Given the description of an element on the screen output the (x, y) to click on. 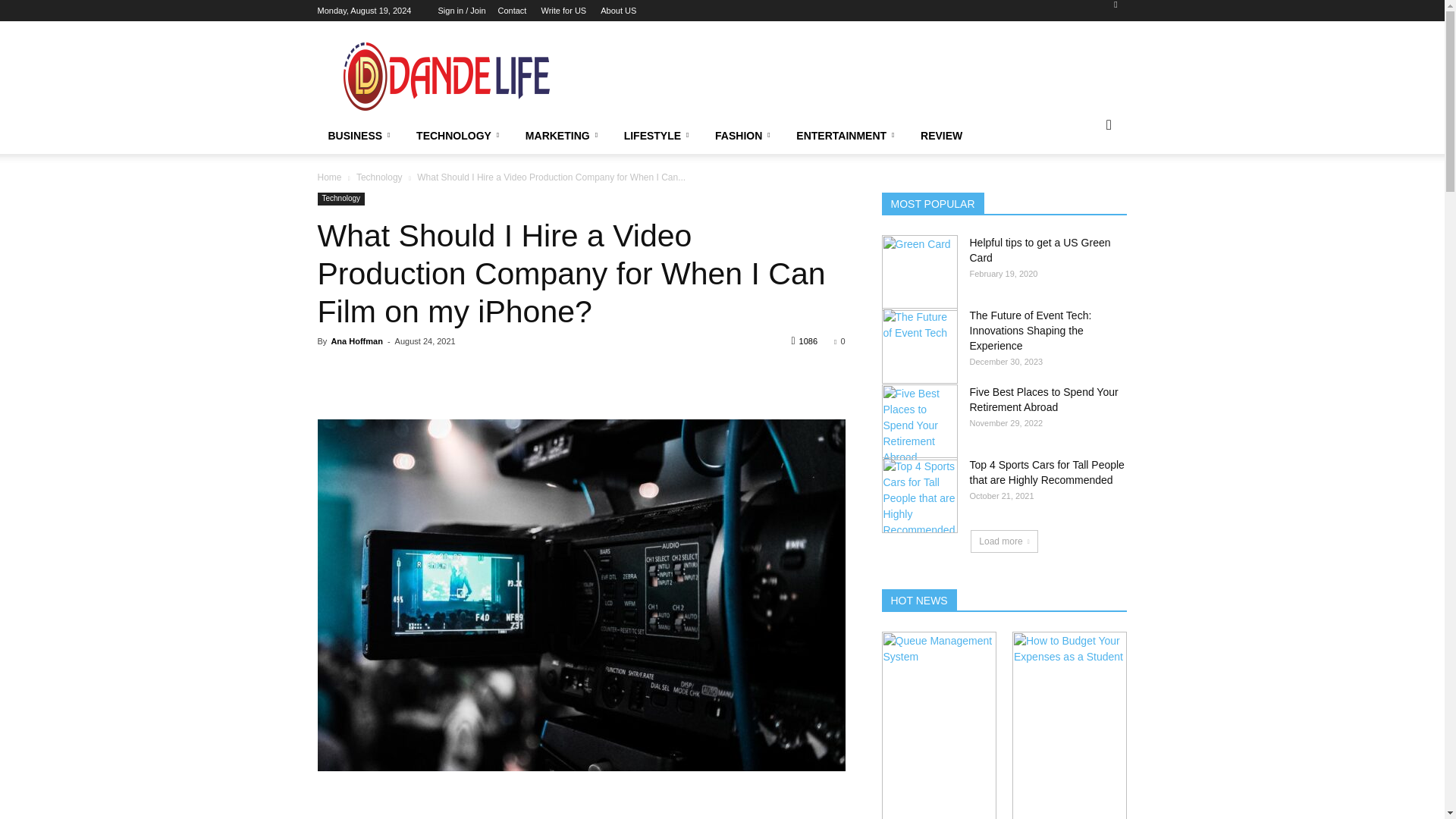
View all posts in Technology (379, 176)
Facebook (1114, 9)
